Given the description of an element on the screen output the (x, y) to click on. 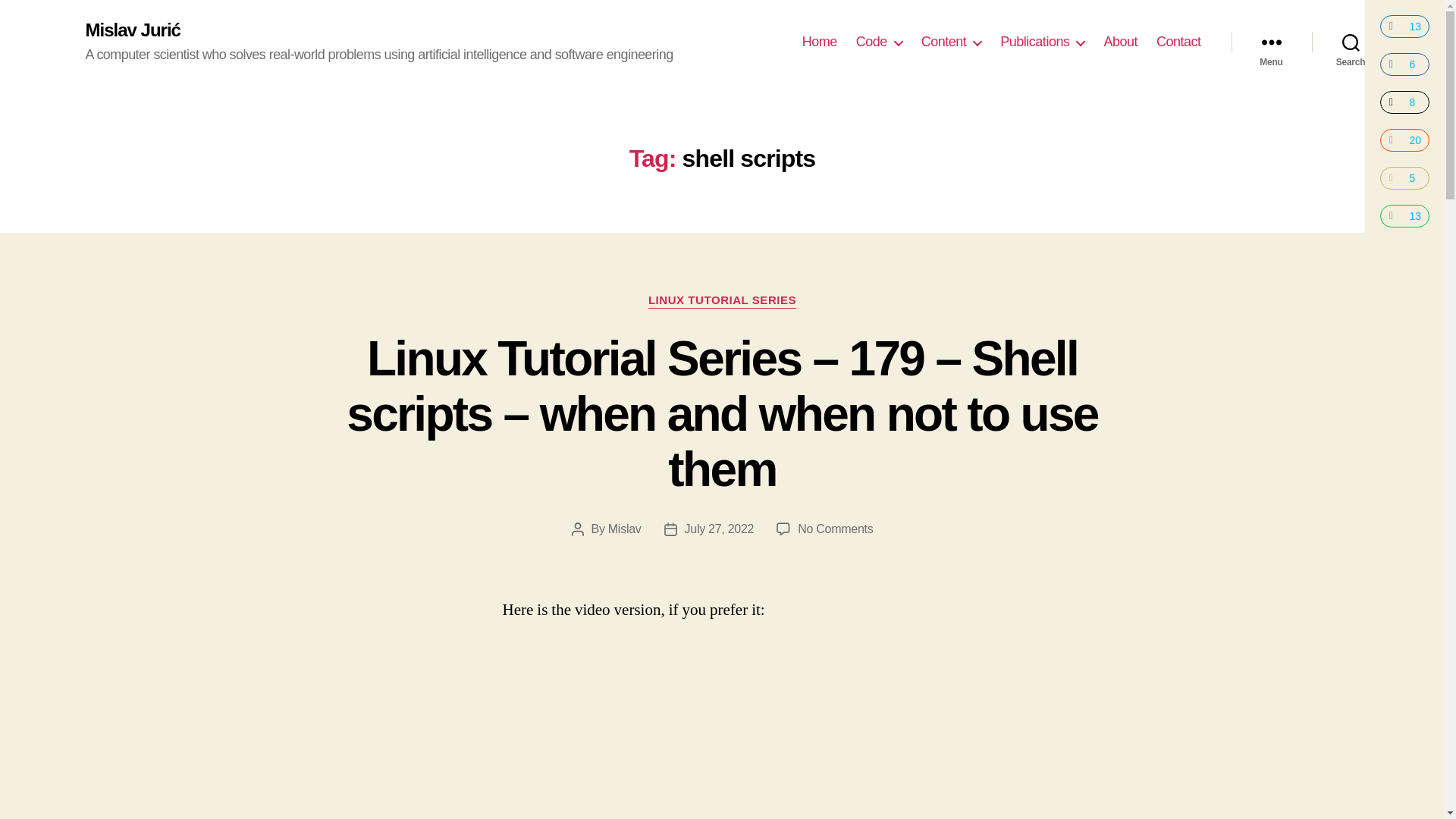
Contact (1178, 42)
Content (951, 42)
Menu (1271, 41)
Publications (1042, 42)
Code (879, 42)
Search (1350, 41)
Home (819, 42)
About (1120, 42)
